Given the description of an element on the screen output the (x, y) to click on. 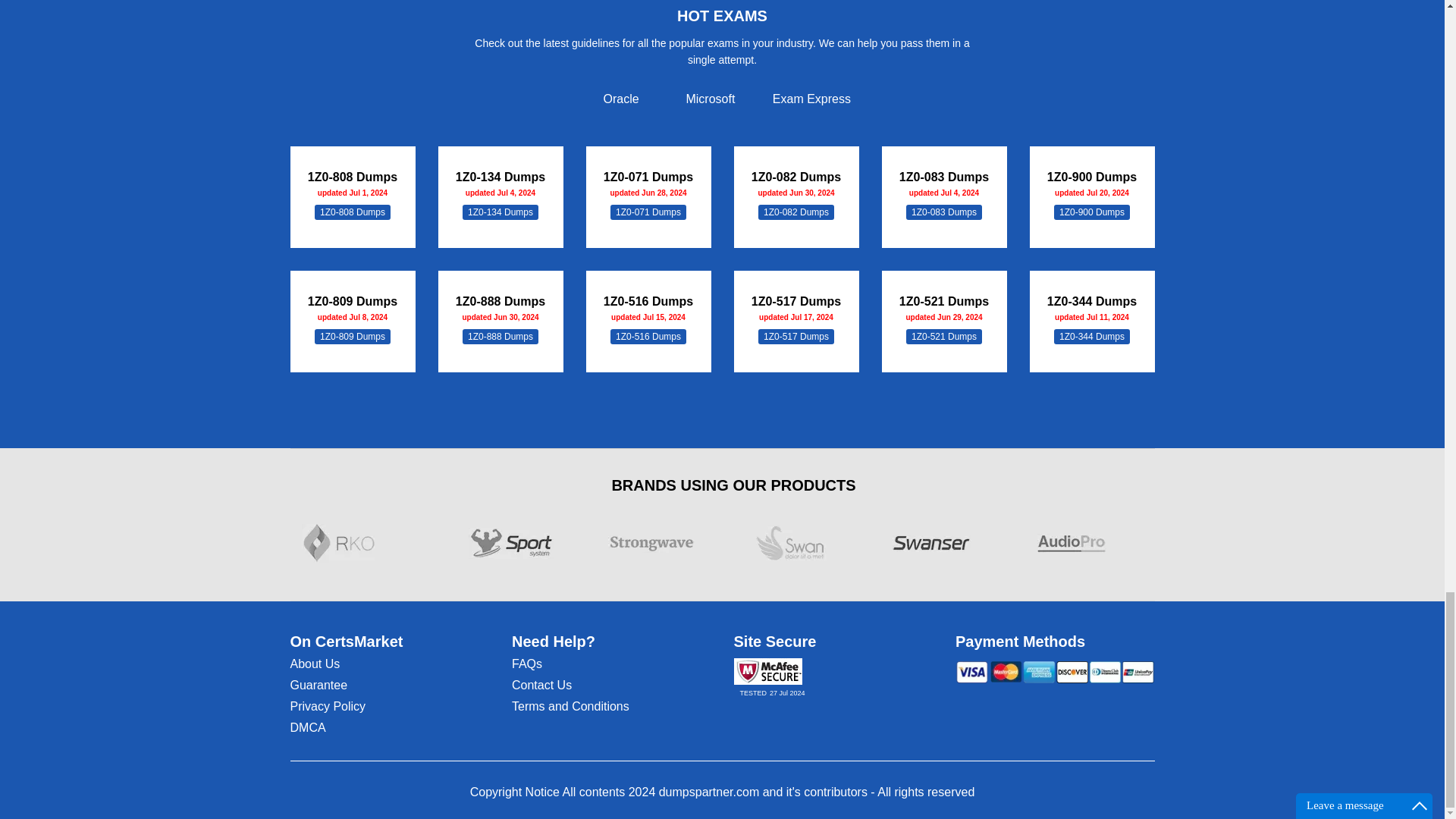
Site Secure (767, 671)
